Given the description of an element on the screen output the (x, y) to click on. 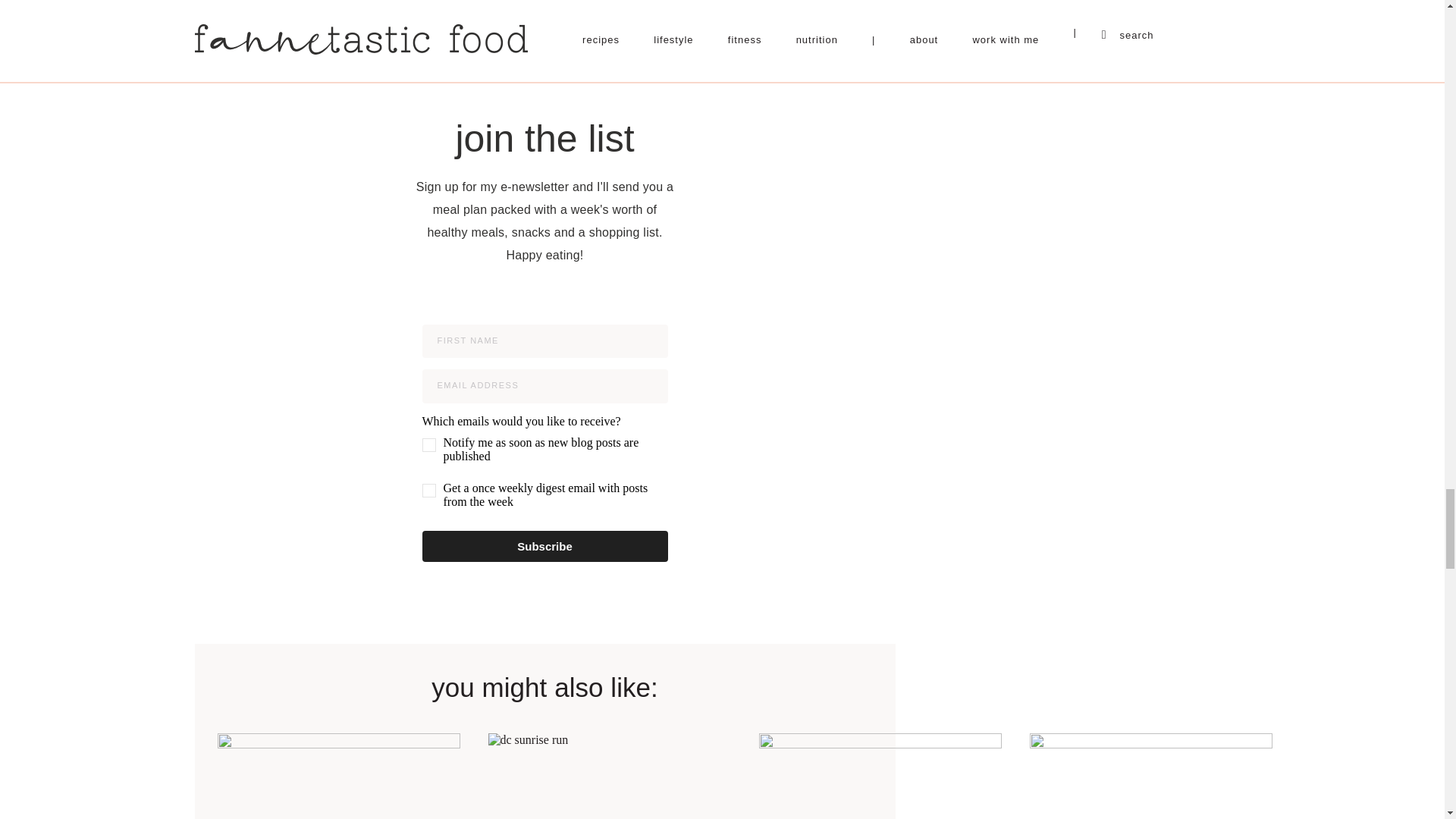
Subscribe (544, 545)
Friday Faves (338, 776)
X (646, 55)
FACEBOOK (524, 55)
EMAIL (767, 55)
